Given the description of an element on the screen output the (x, y) to click on. 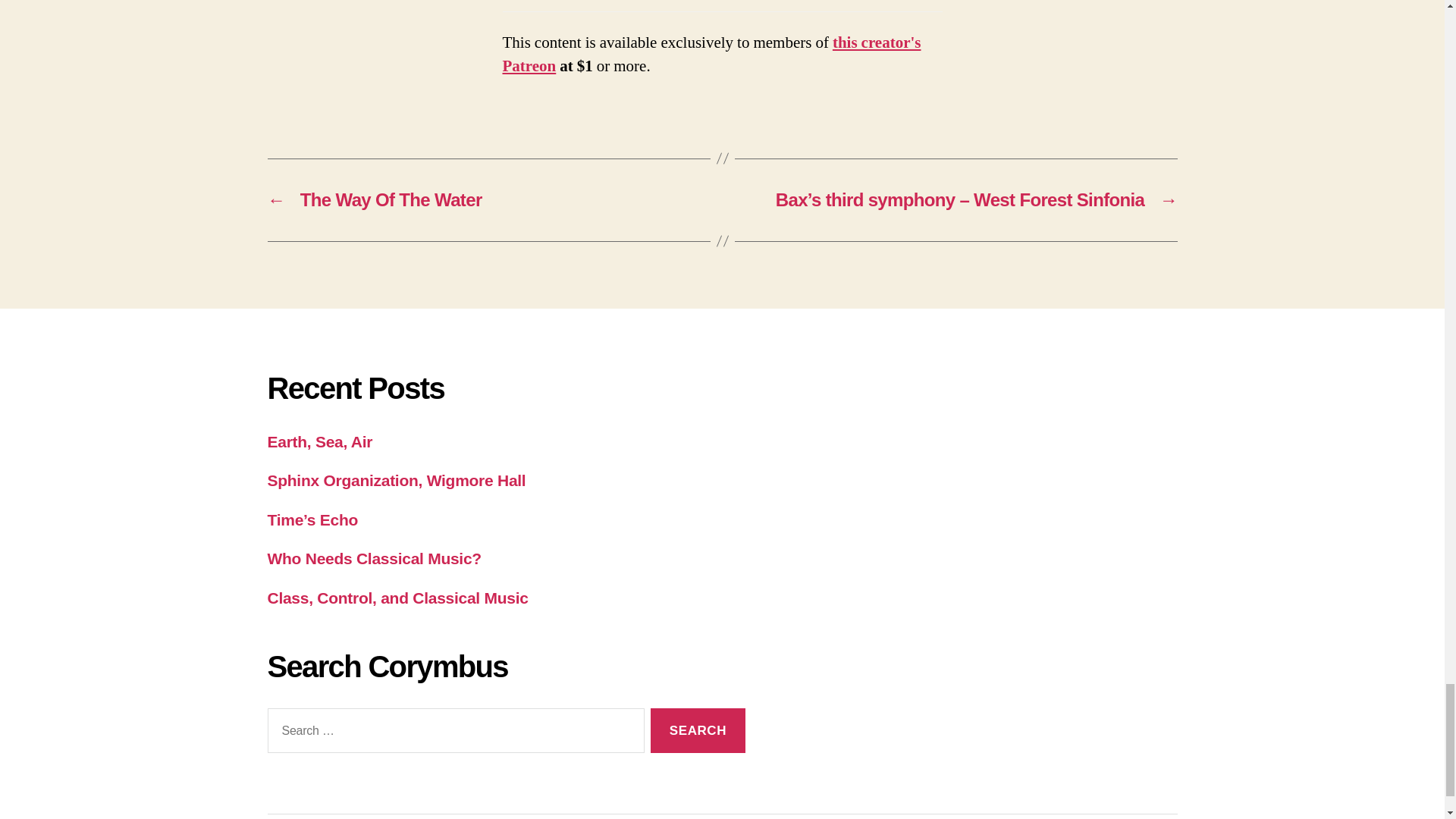
Search (697, 730)
Class, Control, and Classical Music (396, 597)
Sphinx Organization, Wigmore Hall (395, 479)
Who Needs Classical Music? (373, 558)
Search (697, 730)
Earth, Sea, Air (319, 441)
this creator's Patreon (711, 54)
Search (697, 730)
